Given the description of an element on the screen output the (x, y) to click on. 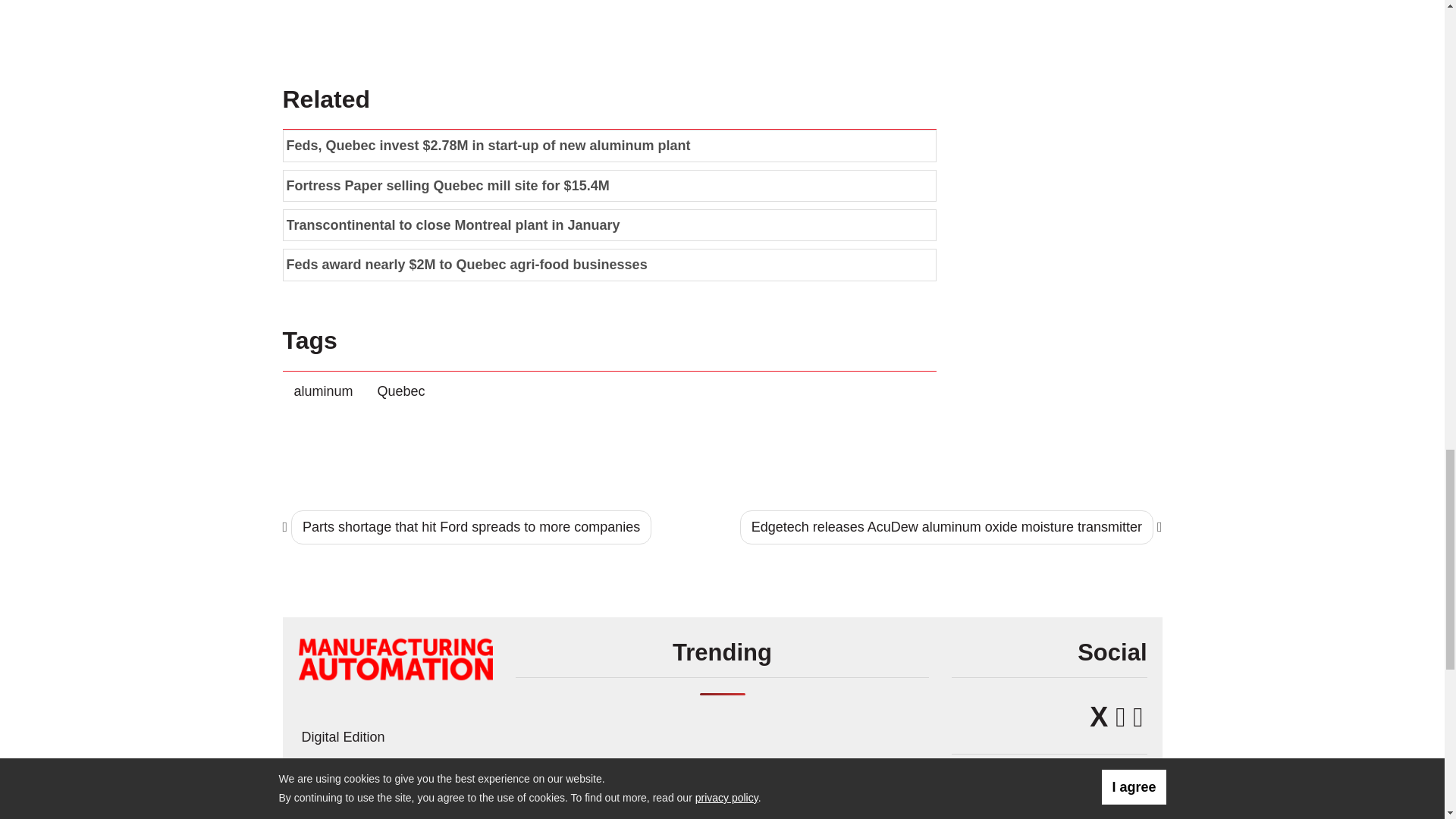
Manufacturing AUTOMATION (395, 657)
